Given the description of an element on the screen output the (x, y) to click on. 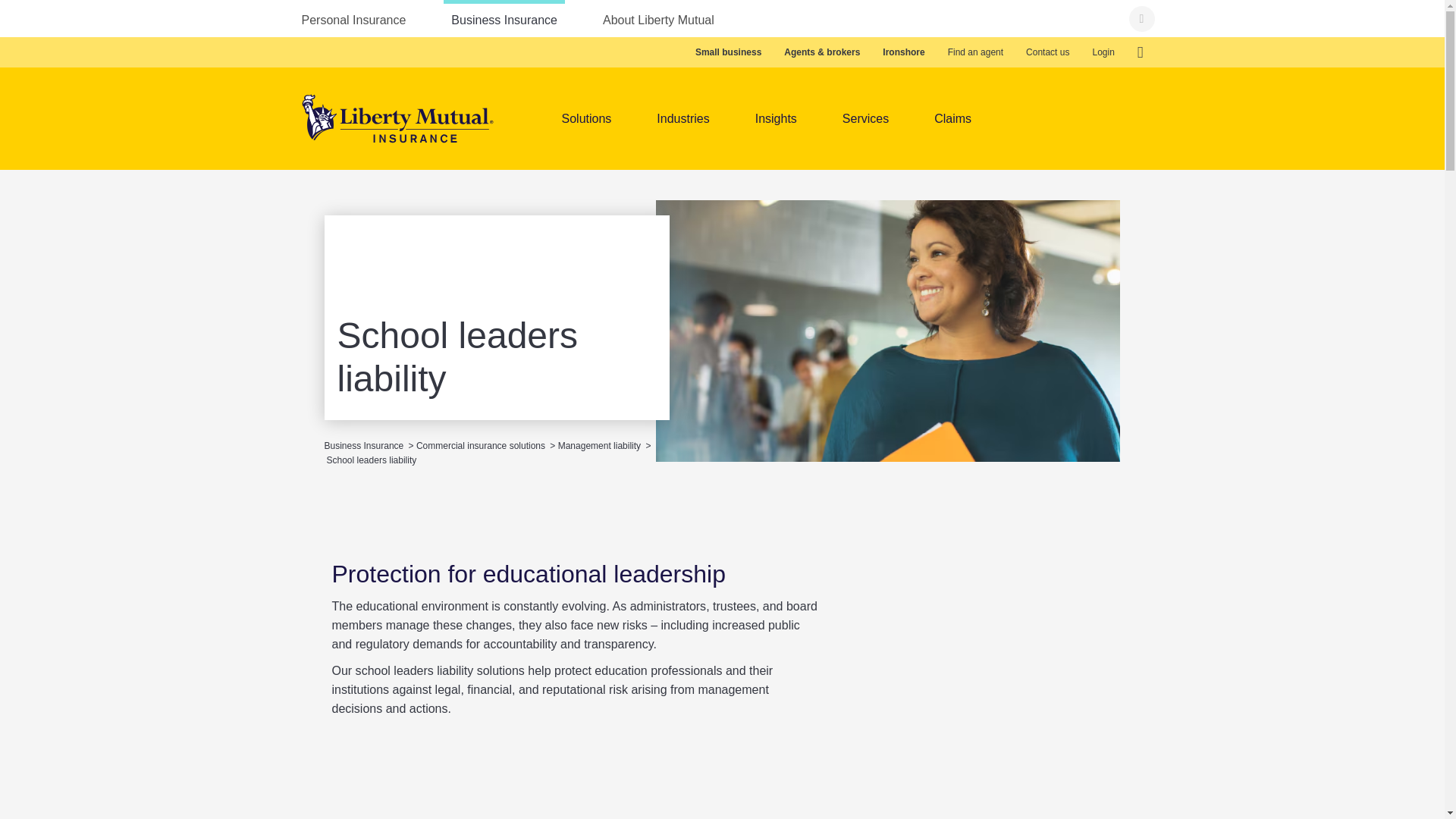
Liberty Mutual Logo (397, 118)
Business Insurance (504, 18)
Small business (728, 52)
Contact us (1047, 52)
Industries (682, 118)
Submit (1141, 18)
Solutions (585, 118)
Find an agent (975, 52)
Ironshore (903, 52)
Login (1102, 52)
Global Operations (1139, 51)
Personal Insurance (353, 18)
About Liberty Mutual (658, 18)
